Given the description of an element on the screen output the (x, y) to click on. 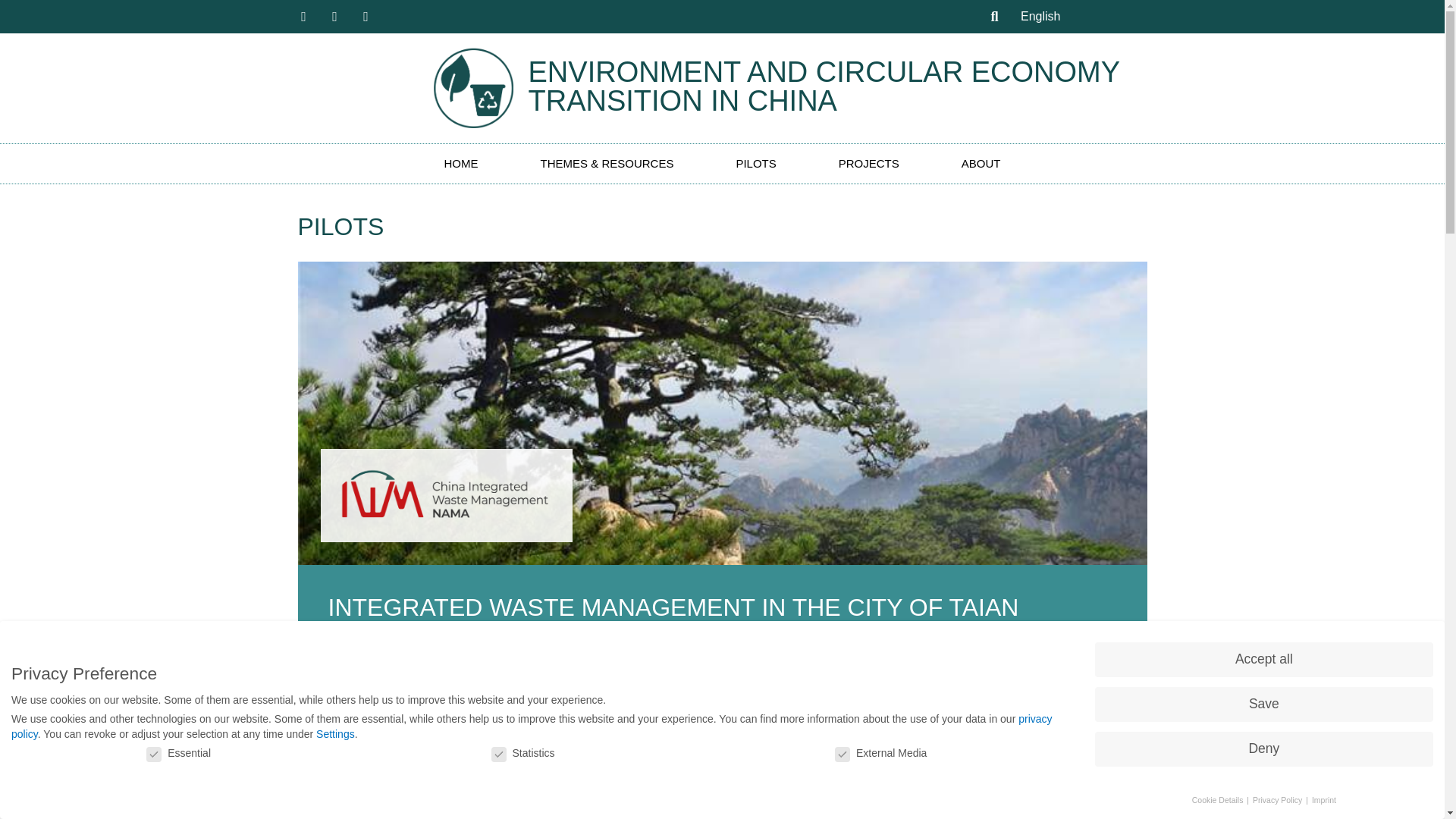
HOME (461, 163)
English (1040, 16)
PROJECTS (869, 163)
PILOTS (755, 163)
